Given the description of an element on the screen output the (x, y) to click on. 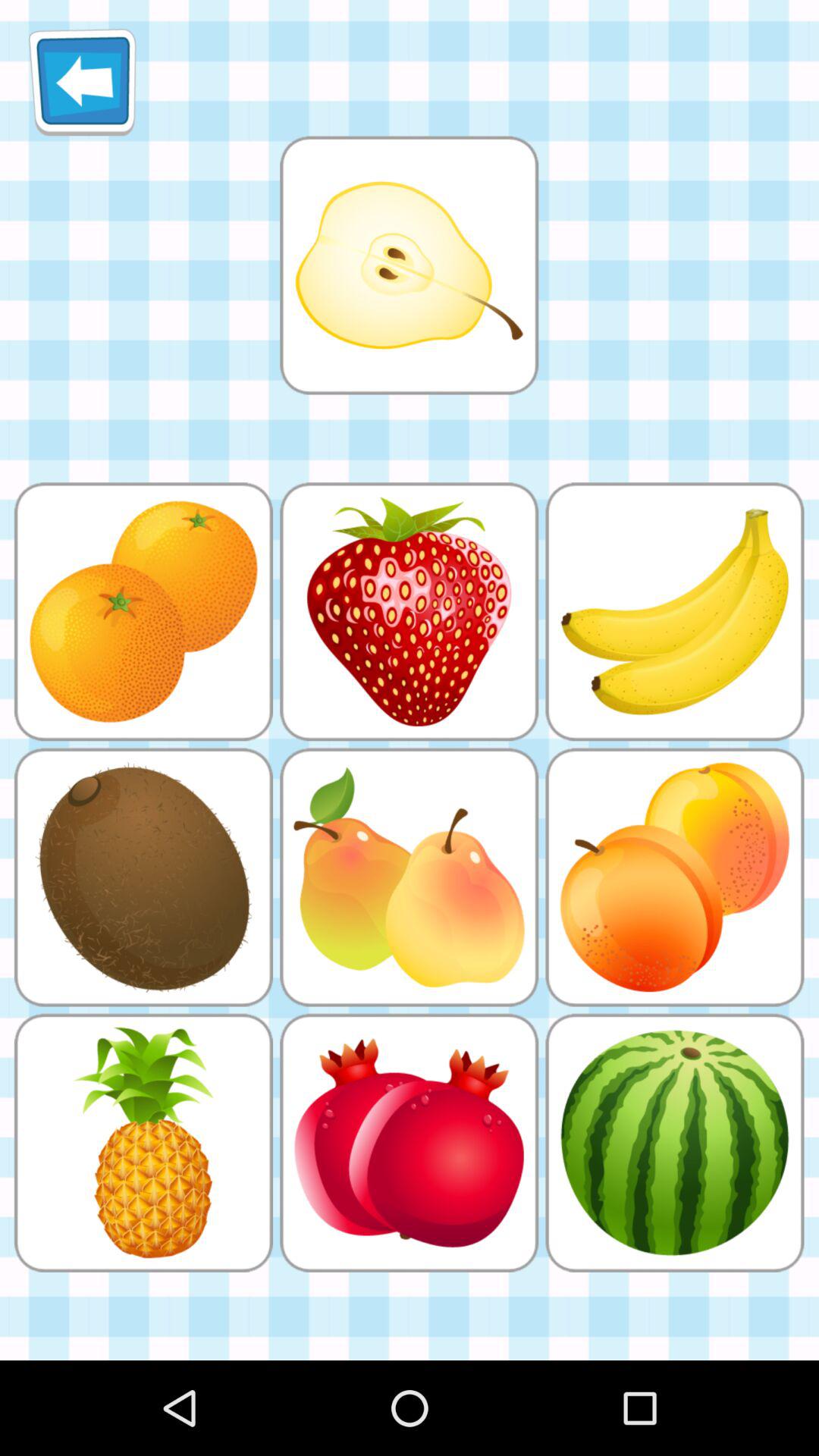
click top middle pear (409, 265)
